Given the description of an element on the screen output the (x, y) to click on. 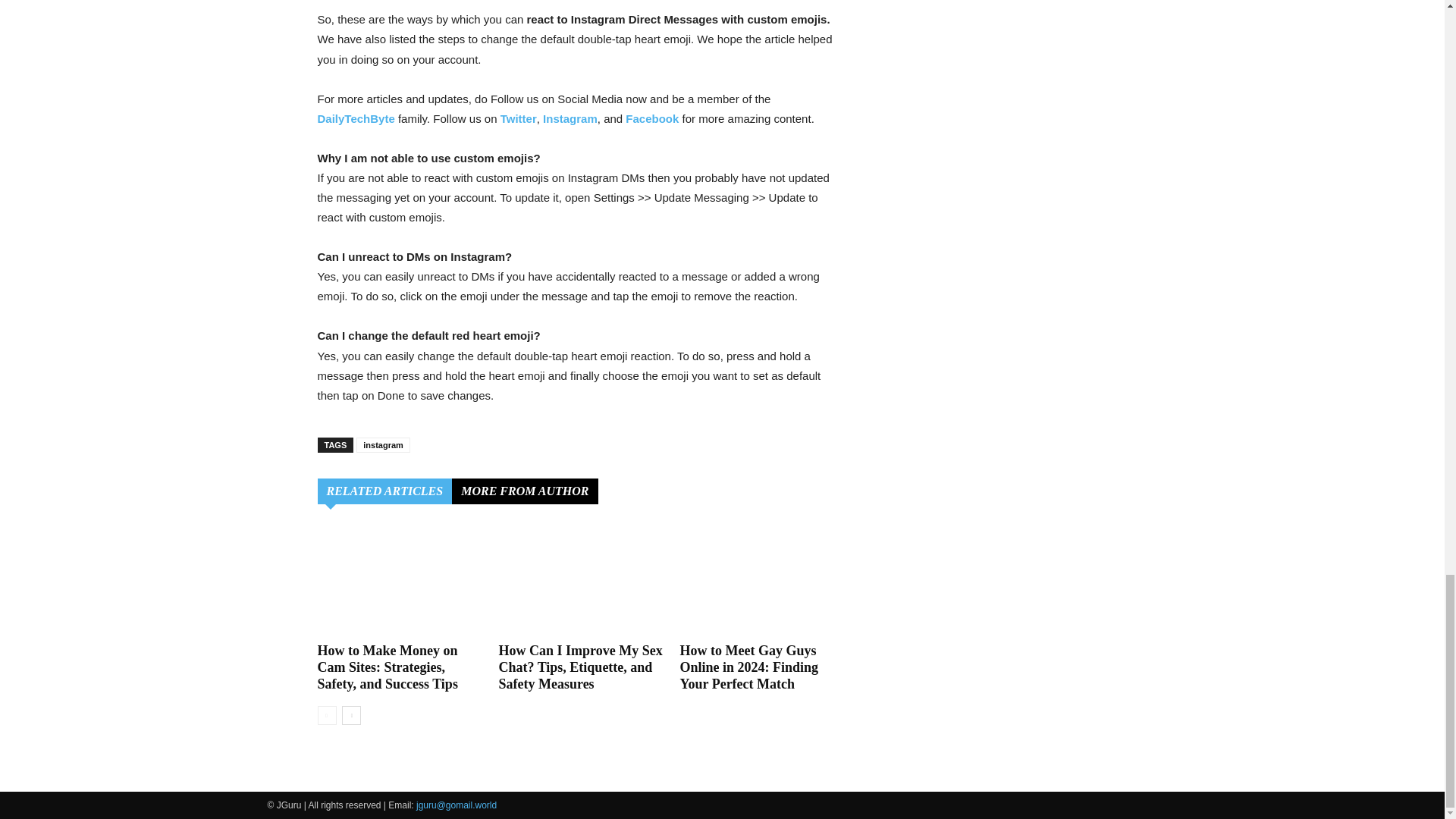
Twitter (518, 118)
MORE FROM AUTHOR (523, 491)
instagram (383, 444)
Facebook (652, 118)
